Given the description of an element on the screen output the (x, y) to click on. 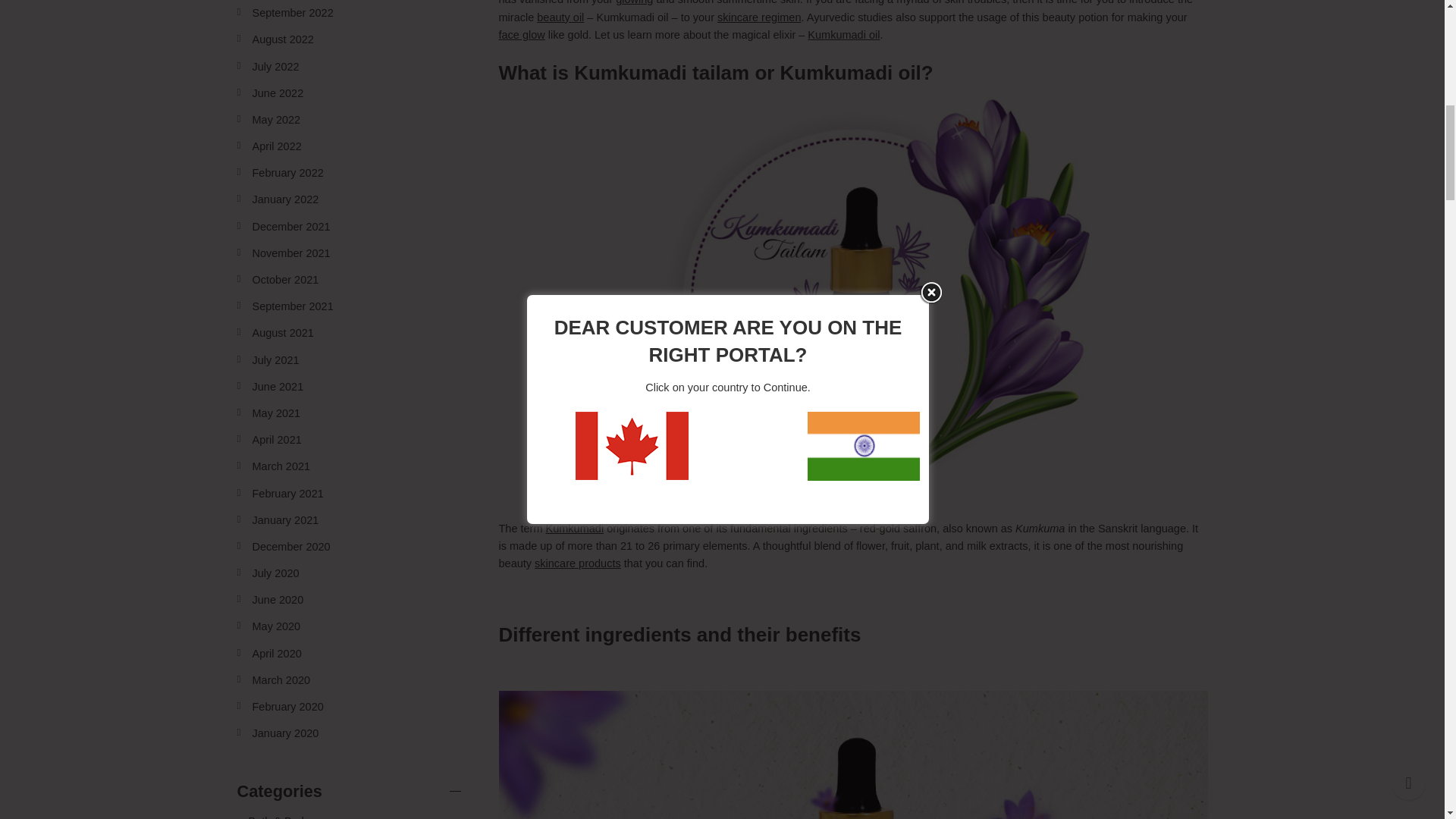
skincare regimen (758, 17)
glowing (633, 2)
face glow (521, 34)
beauty oil (560, 17)
